Given the description of an element on the screen output the (x, y) to click on. 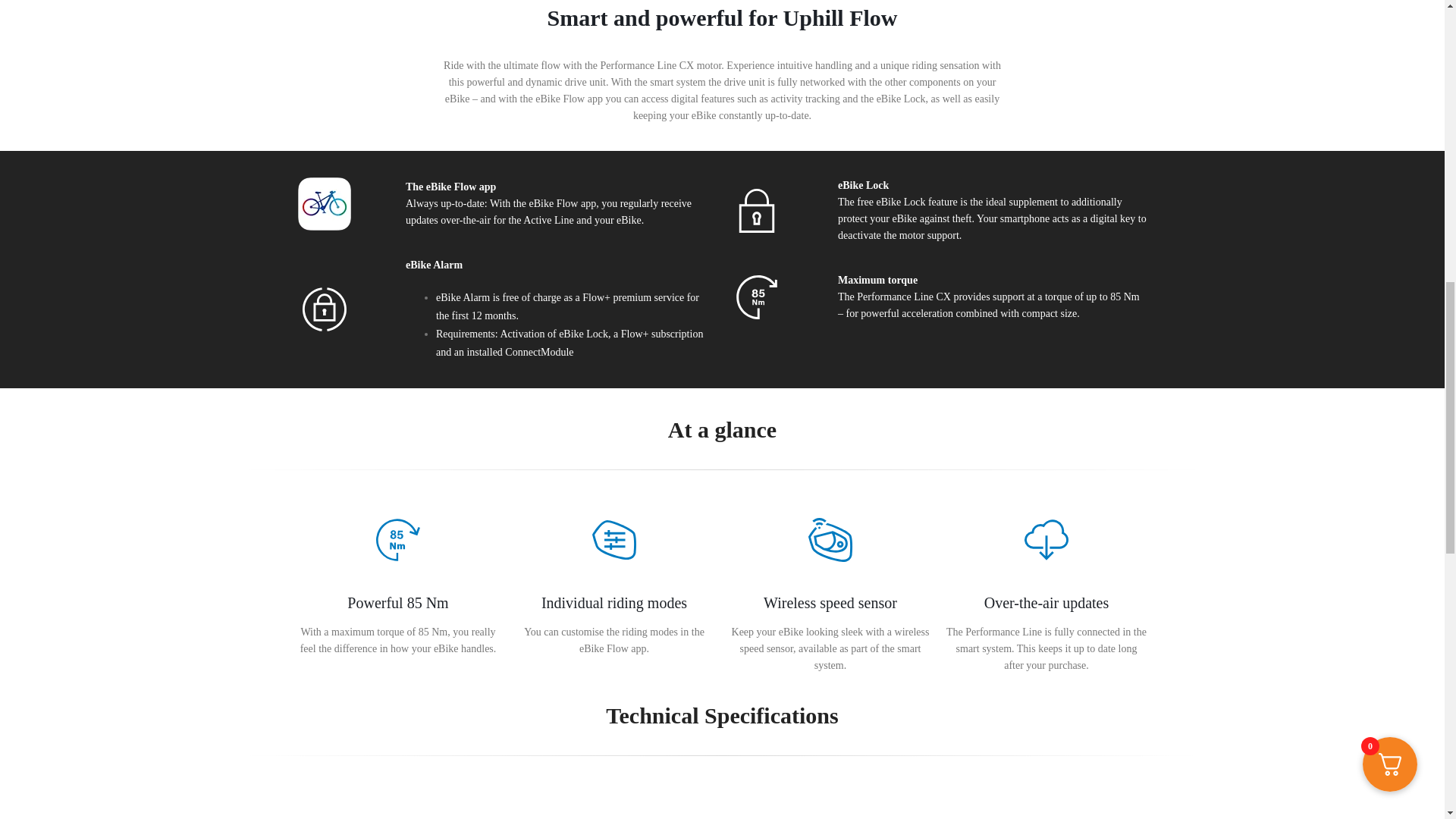
CX4 (398, 539)
A2 (323, 308)
A1 (323, 203)
CX5 (614, 539)
A3 (1046, 539)
CX6 (830, 539)
A4 (756, 210)
CX3 (756, 297)
